Given the description of an element on the screen output the (x, y) to click on. 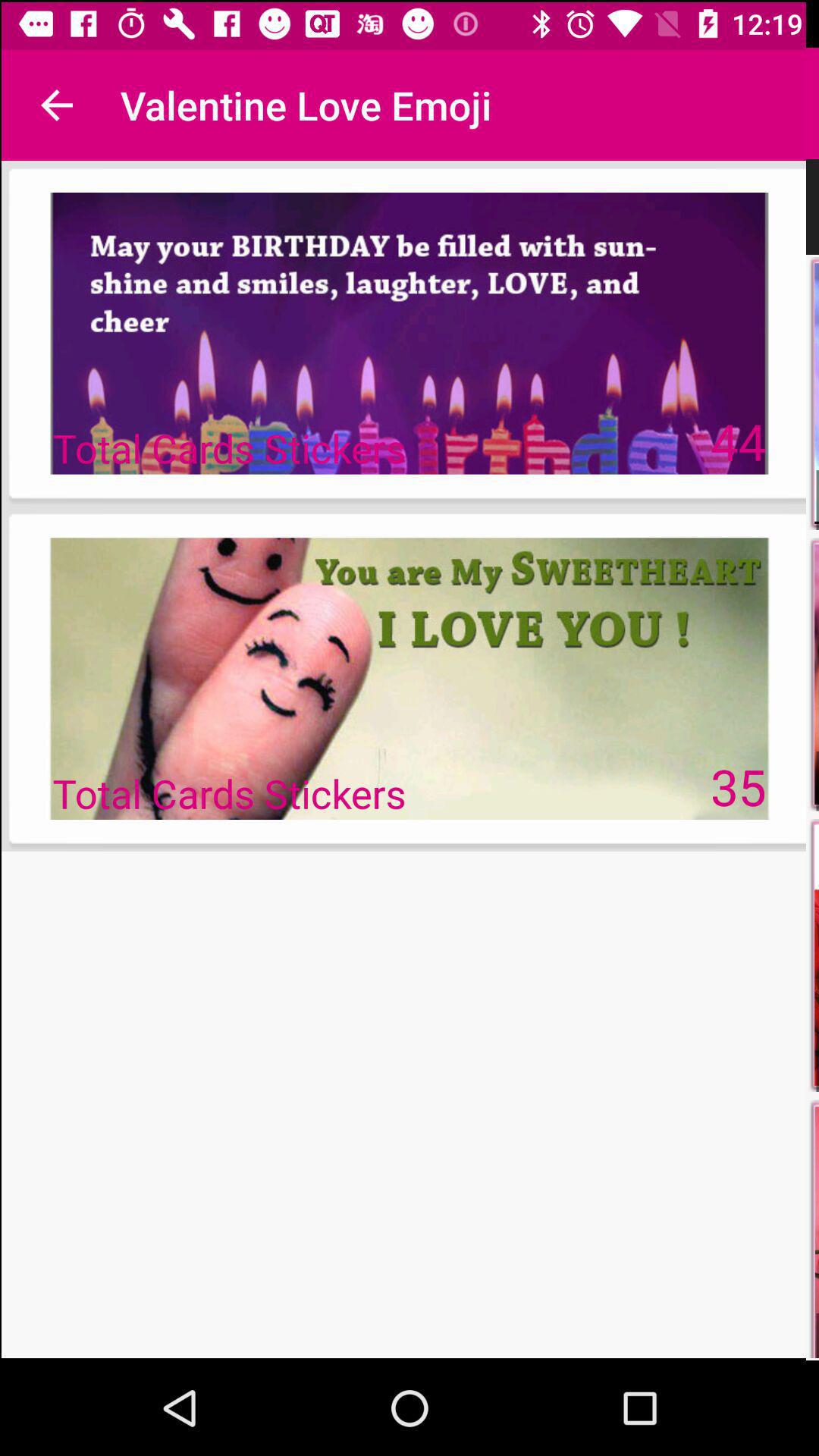
turn on icon to the left of the valentine love emoji app (55, 103)
